Given the description of an element on the screen output the (x, y) to click on. 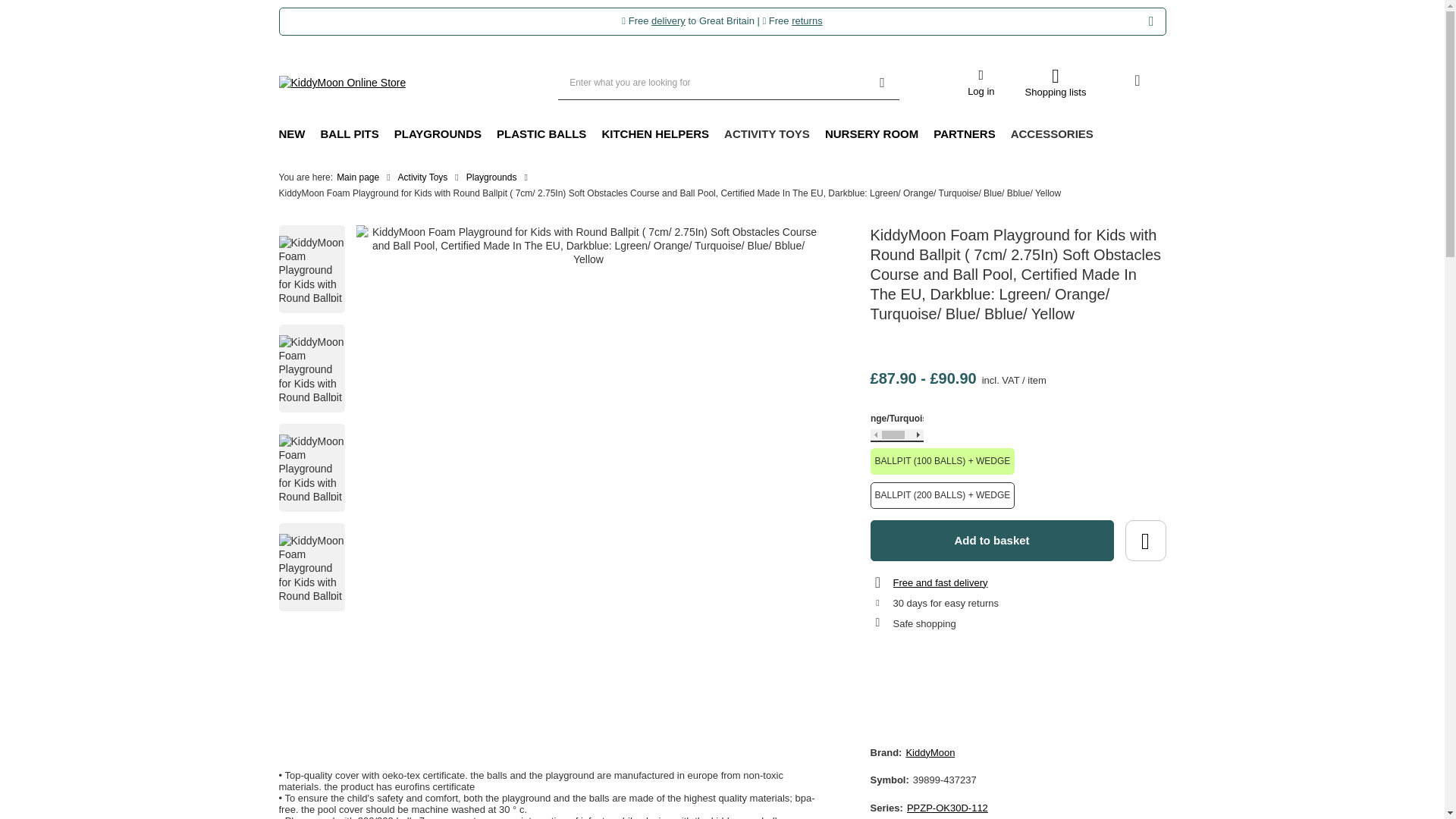
returns (807, 20)
Plastic Balls (541, 135)
Shopping lists (1055, 82)
delivery (667, 20)
KITCHEN HELPERS (655, 135)
NEW (291, 135)
Playgrounds (438, 135)
Activity Toys (766, 135)
PLASTIC BALLS (541, 135)
ACTIVITY TOYS (766, 135)
PLAYGROUNDS (438, 135)
New (291, 135)
Kitchen Helpers (655, 135)
BALL PITS (349, 135)
Ball Pits (349, 135)
